Given the description of an element on the screen output the (x, y) to click on. 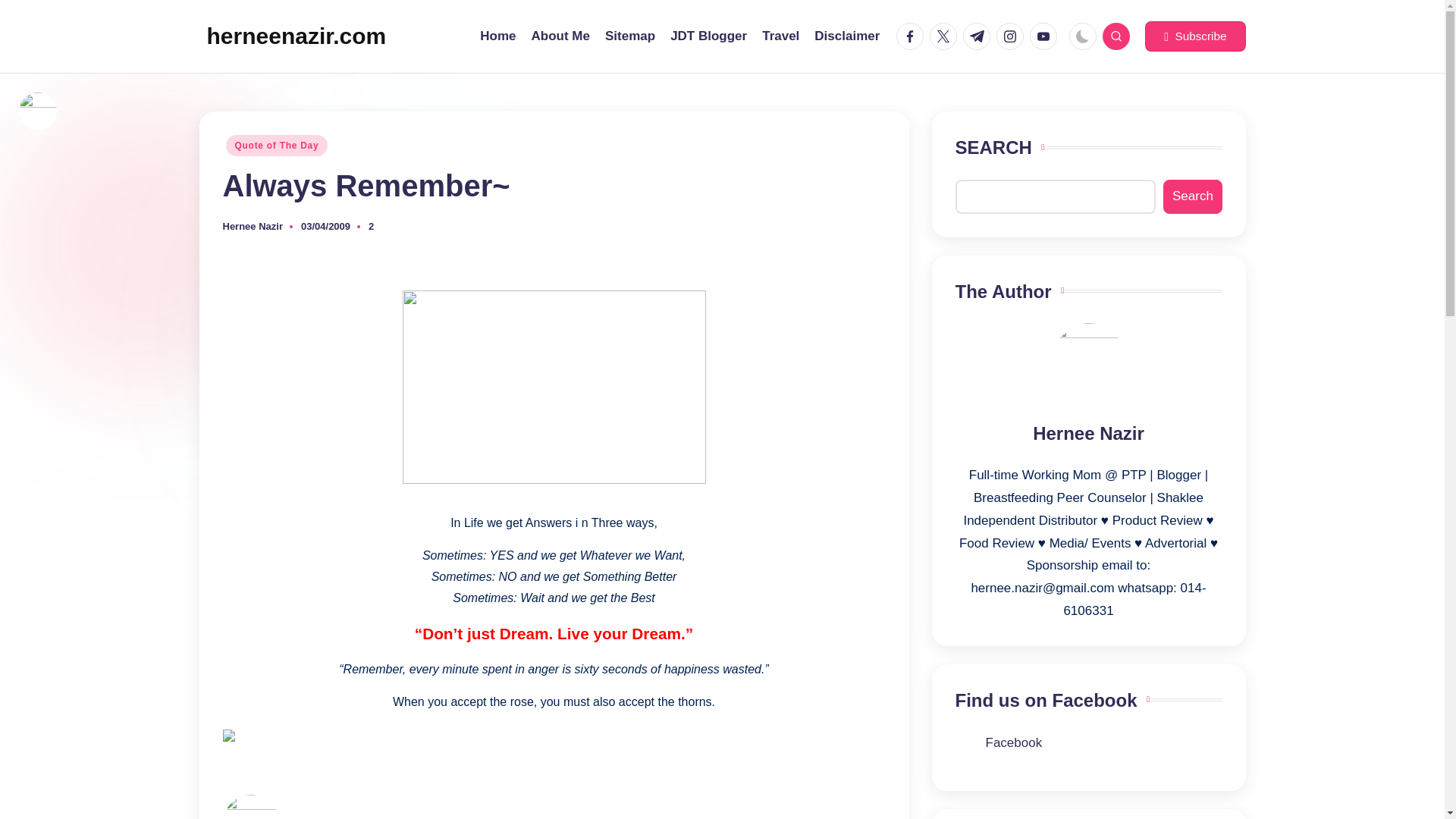
Sitemap (630, 36)
herneenazir.com (295, 36)
Facebook (1013, 742)
Hernee Nazir (252, 225)
Travel (780, 36)
youtube.com (1045, 35)
About Me (560, 36)
Home (497, 36)
Subscribe (1194, 36)
JDT Blogger (707, 36)
